Given the description of an element on the screen output the (x, y) to click on. 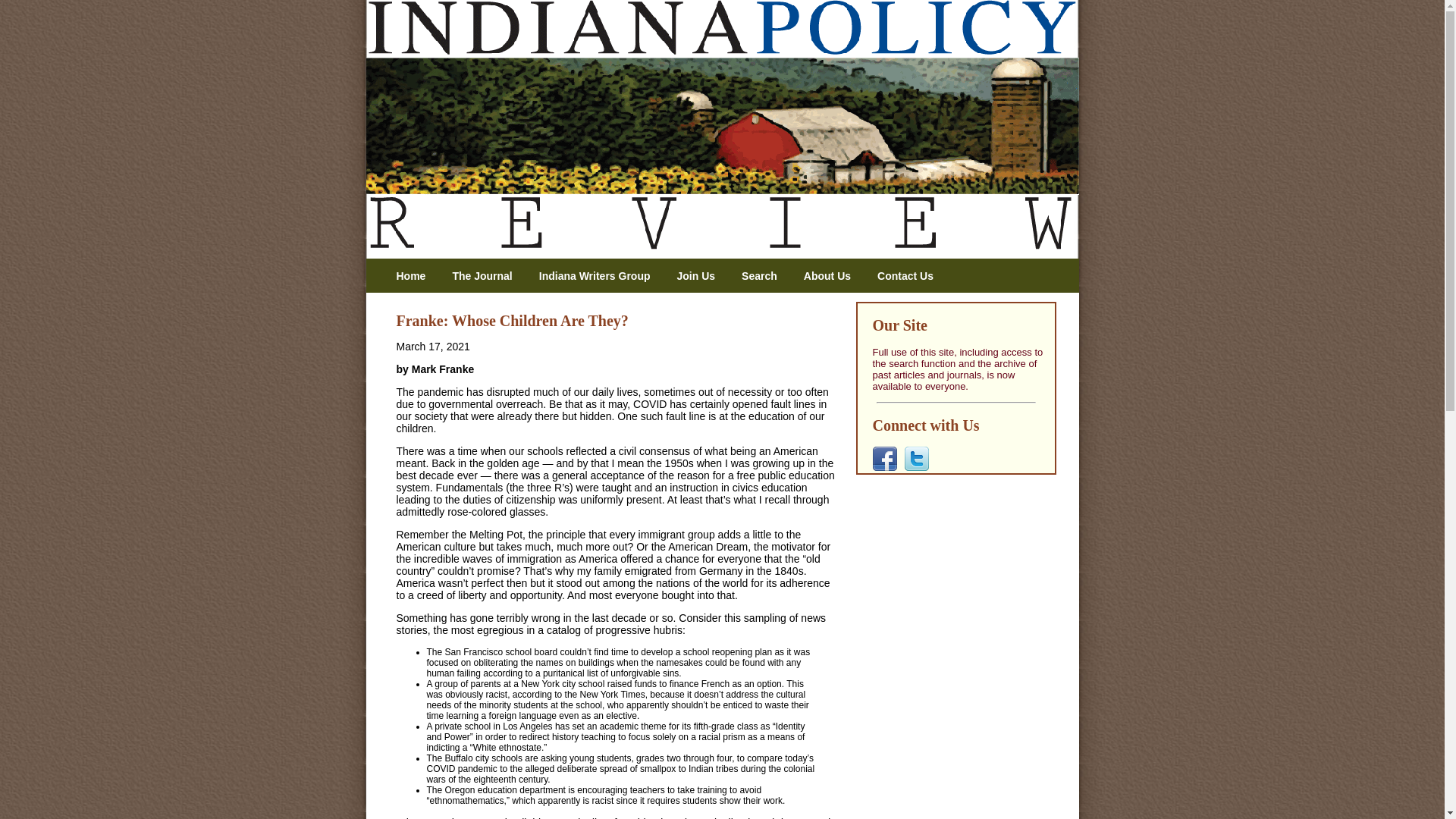
Home (416, 275)
Indiana Writers Group (600, 275)
Contact Us (910, 275)
Join Us (701, 275)
About Us (832, 275)
The Journal (486, 275)
Search (765, 275)
